Given the description of an element on the screen output the (x, y) to click on. 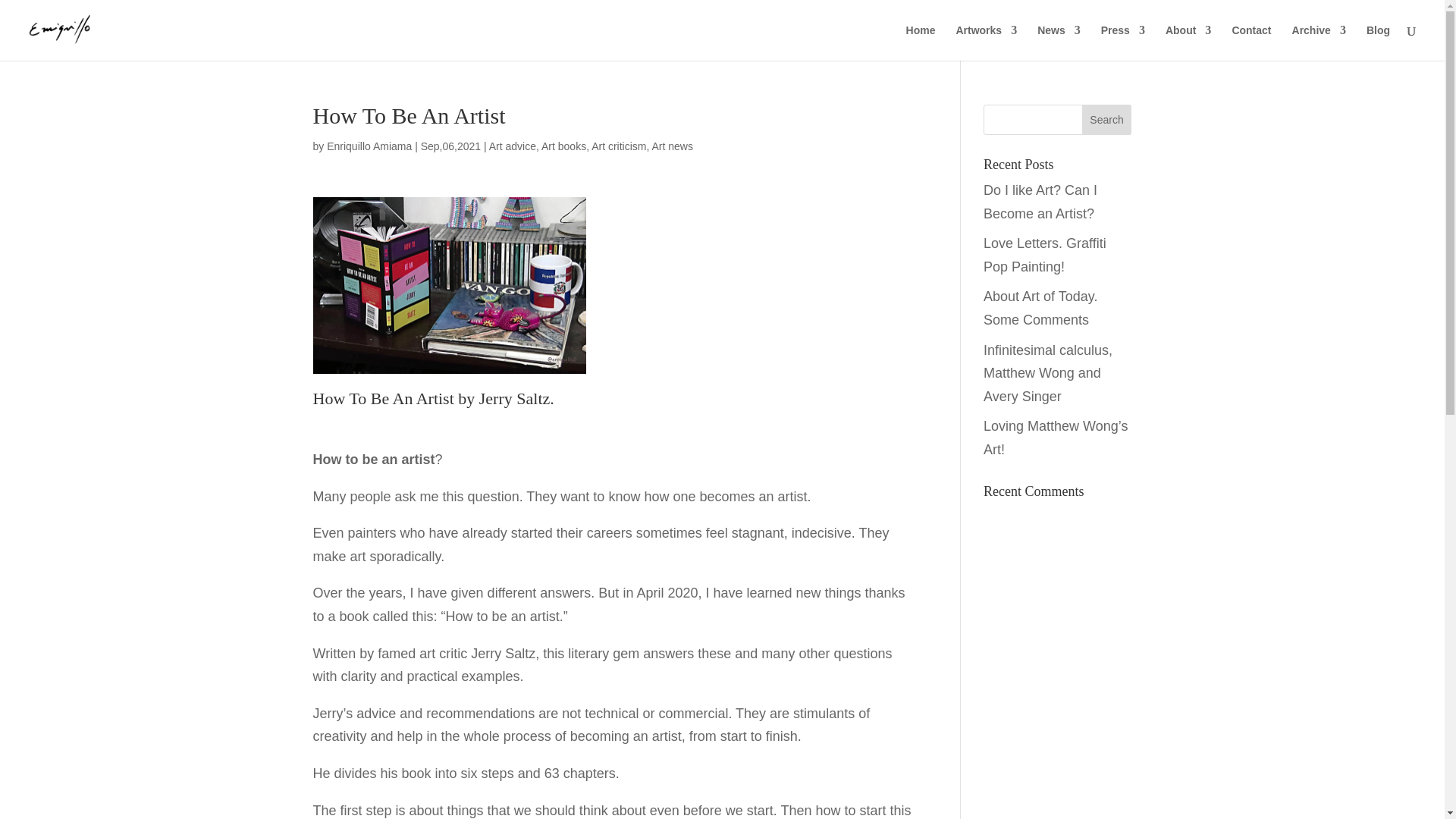
Artworks (985, 42)
Press (1122, 42)
Enriquillo Amiama (369, 146)
Art criticism (618, 146)
Infinitesimal calculus, Matthew Wong and Avery Singer (1048, 373)
Archive (1318, 42)
Do I like Art? Can I Become an Artist? (1040, 201)
Search (1106, 119)
News (1058, 42)
Art news (672, 146)
